Given the description of an element on the screen output the (x, y) to click on. 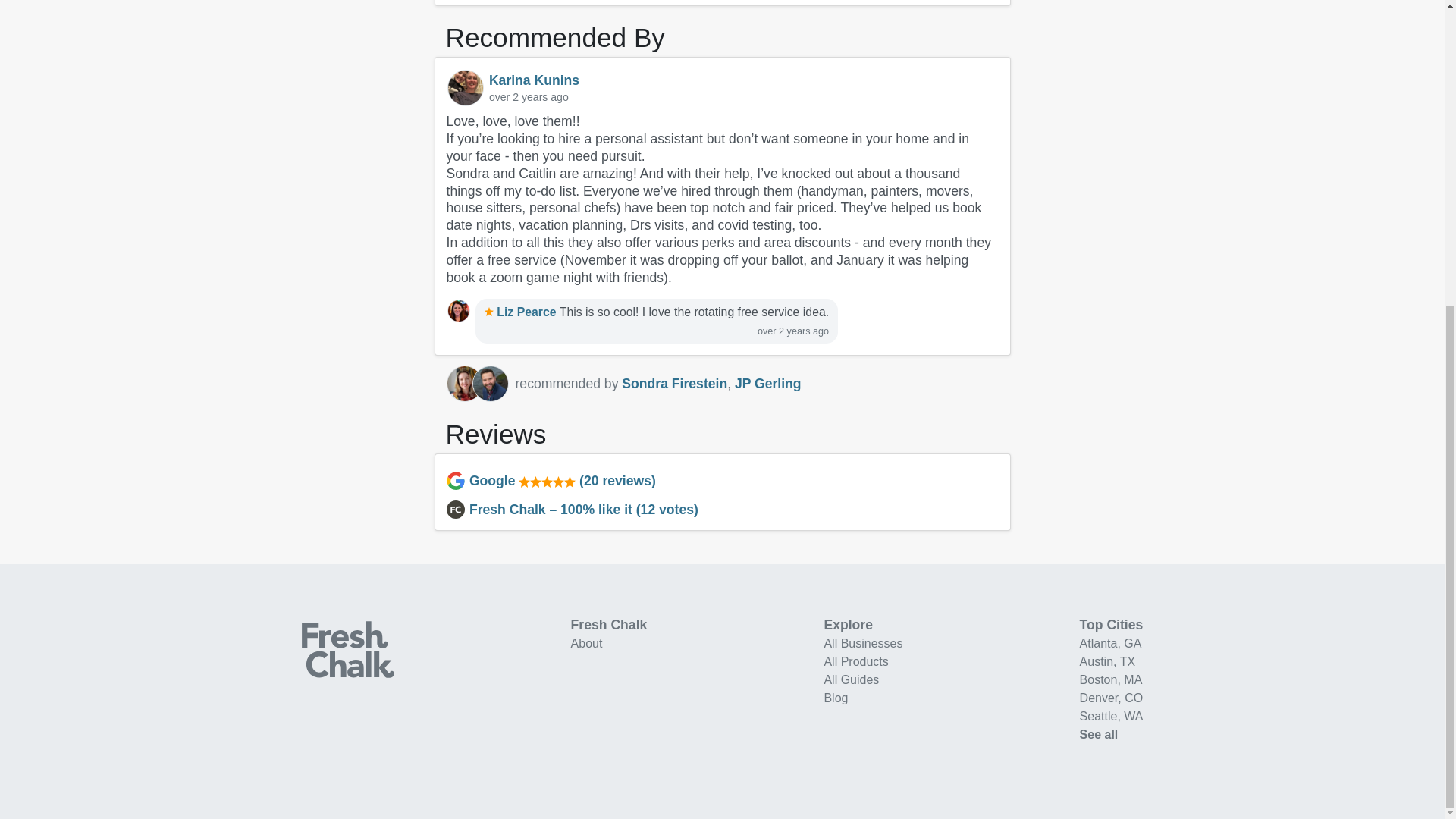
All Products (856, 661)
All Businesses (863, 643)
Liz Pearce (520, 311)
Sondra Firestein (673, 383)
Boston, MA (1111, 679)
Austin, TX (1107, 661)
Atlanta, GA (1110, 643)
Denver, CO (1111, 697)
All Guides (851, 679)
Karina Kunins (464, 87)
About (586, 643)
Blog (835, 697)
Sondra Firestein (463, 383)
Karina Kunins (534, 79)
Seattle, WA (1111, 716)
